Given the description of an element on the screen output the (x, y) to click on. 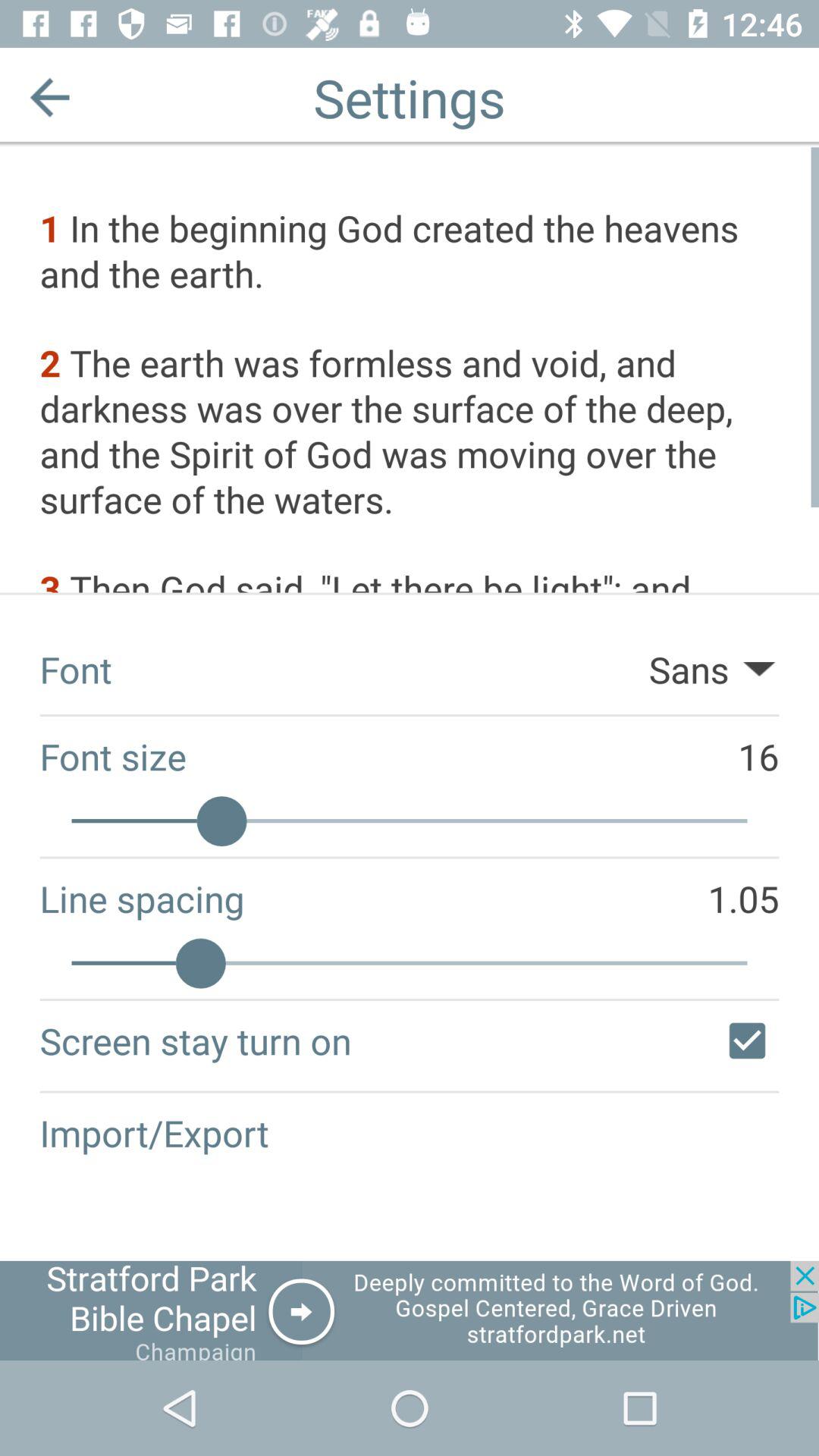
exit settings page (49, 97)
